Given the description of an element on the screen output the (x, y) to click on. 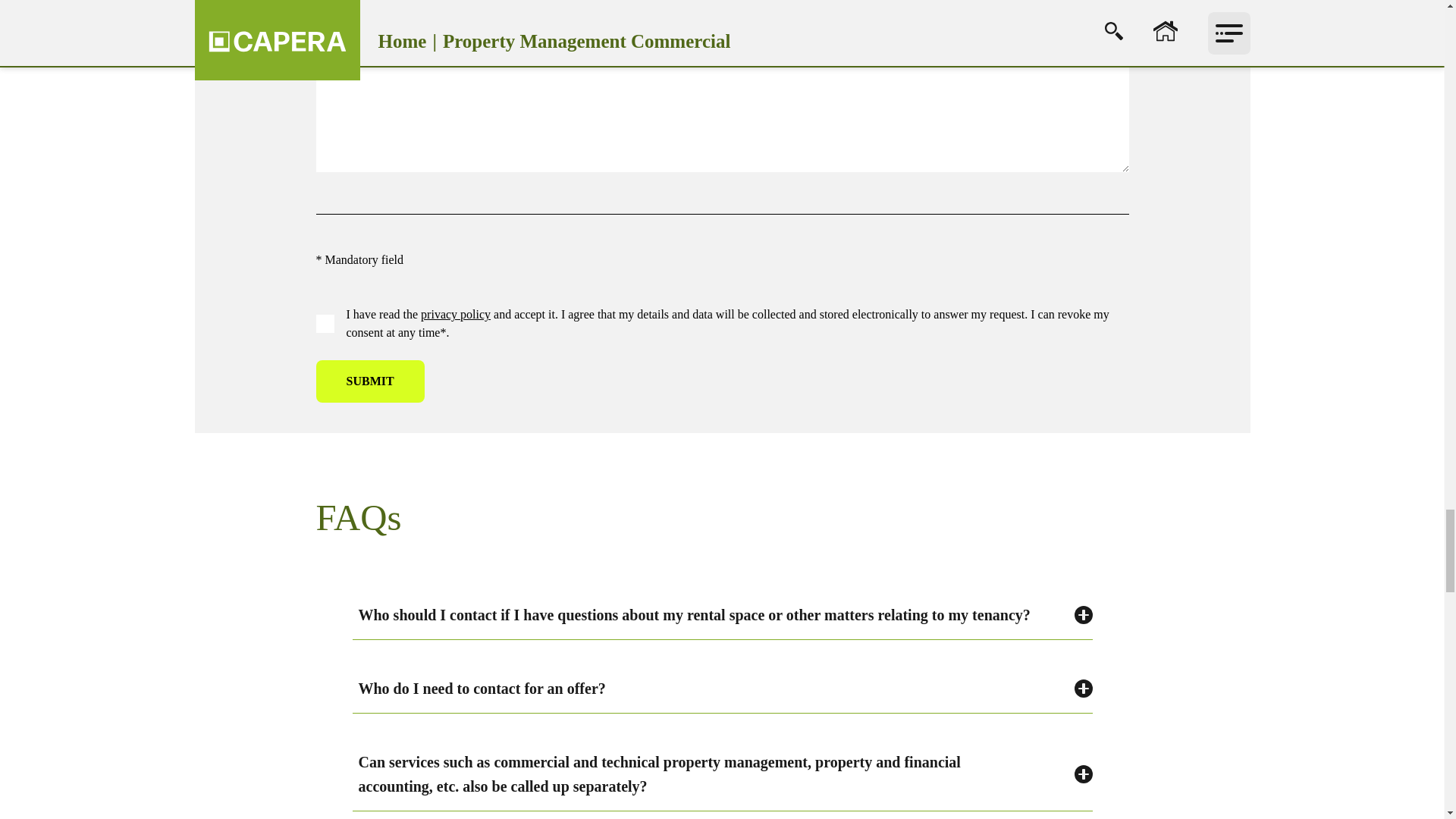
Submit (369, 381)
1 (324, 323)
